Given the description of an element on the screen output the (x, y) to click on. 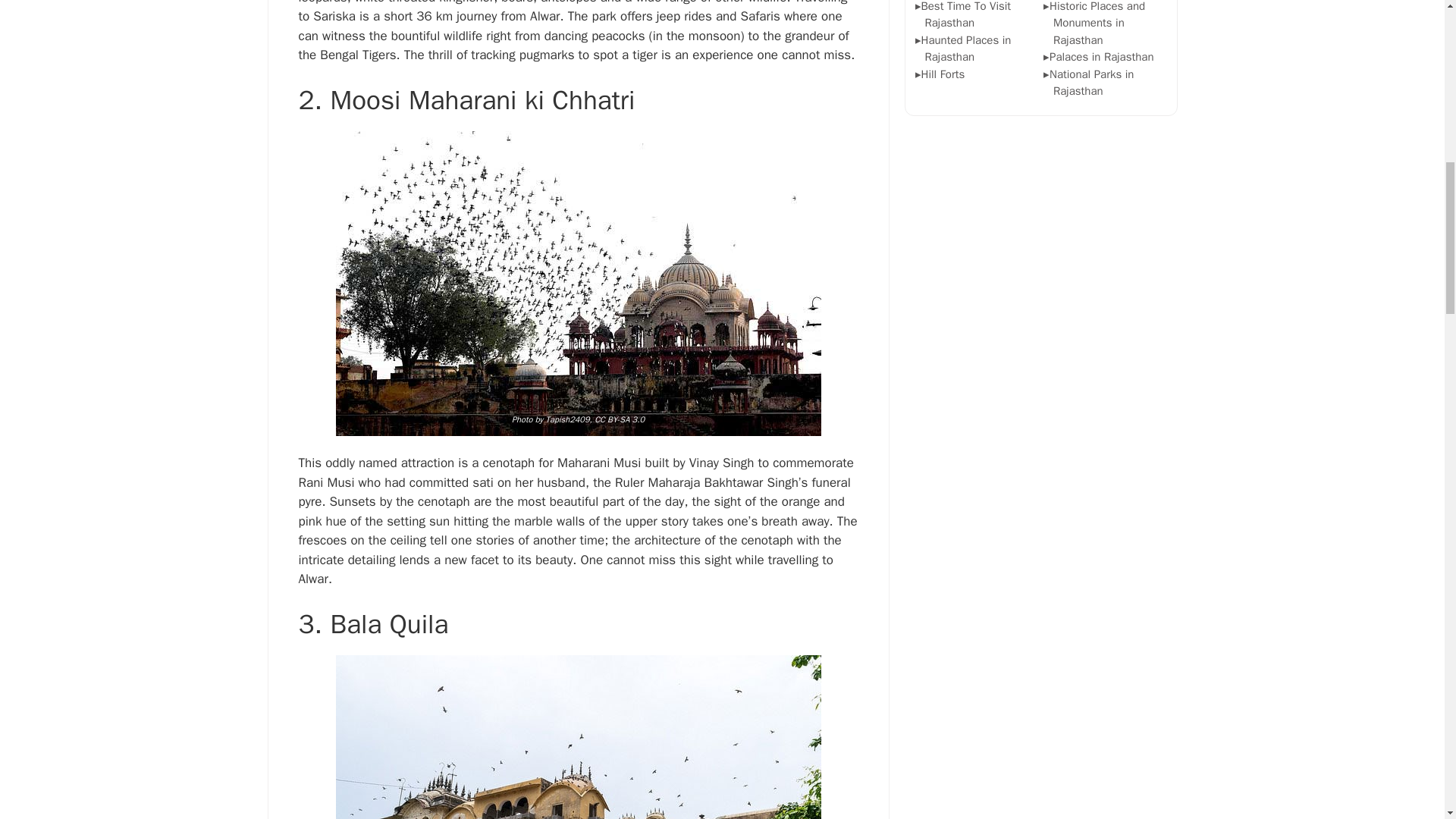
Scroll back to top (1406, 720)
